Given the description of an element on the screen output the (x, y) to click on. 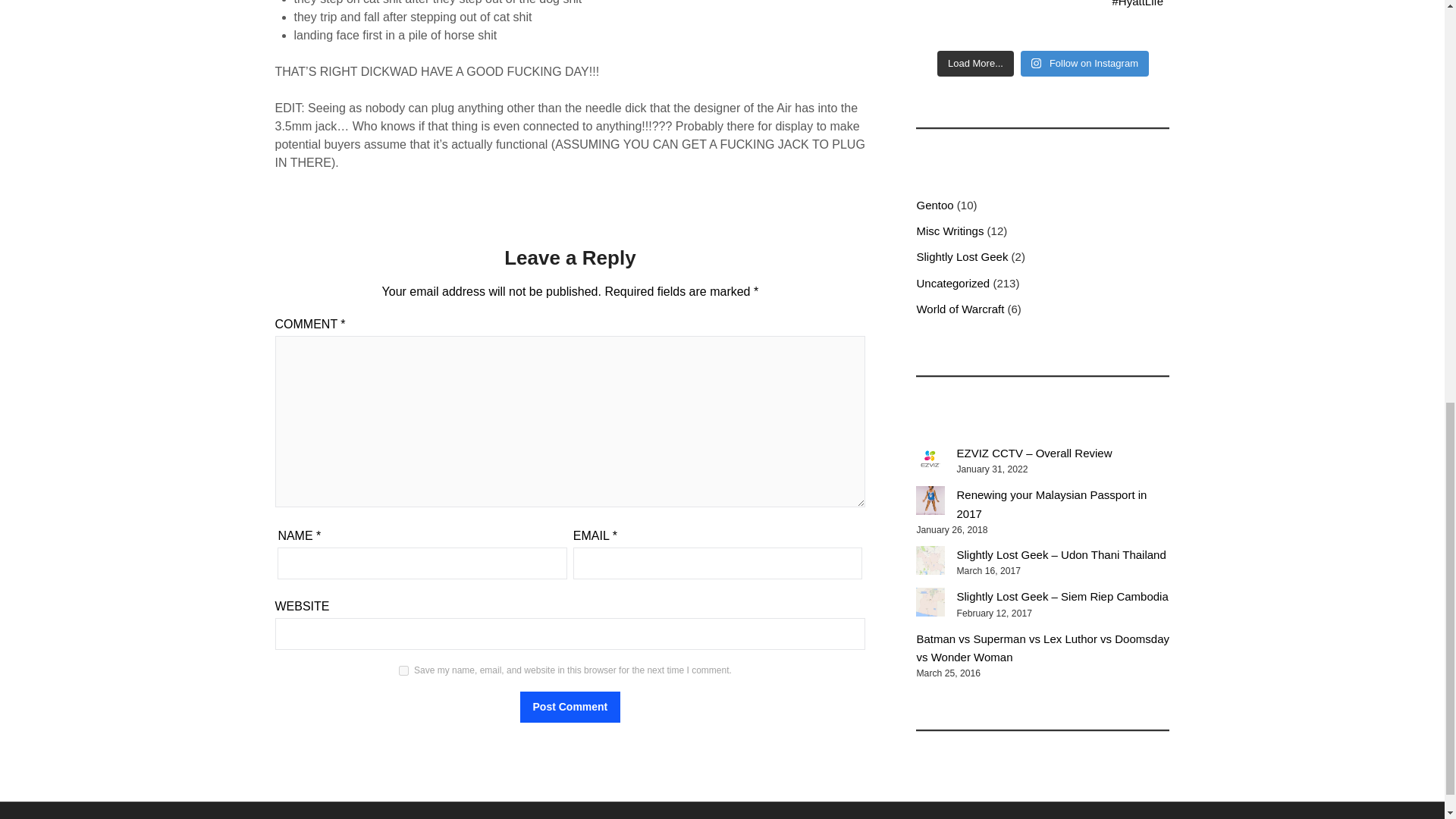
Load More... (975, 63)
Post Comment (570, 706)
Renewing your Malaysian Passport in 2017 (929, 500)
World of Warcraft (959, 308)
Uncategorized (952, 282)
Post Comment (570, 706)
Misc Writings (949, 230)
Renewing your Malaysian Passport in 2017 (1051, 503)
yes (403, 670)
Follow on Instagram (1084, 63)
